Given the description of an element on the screen output the (x, y) to click on. 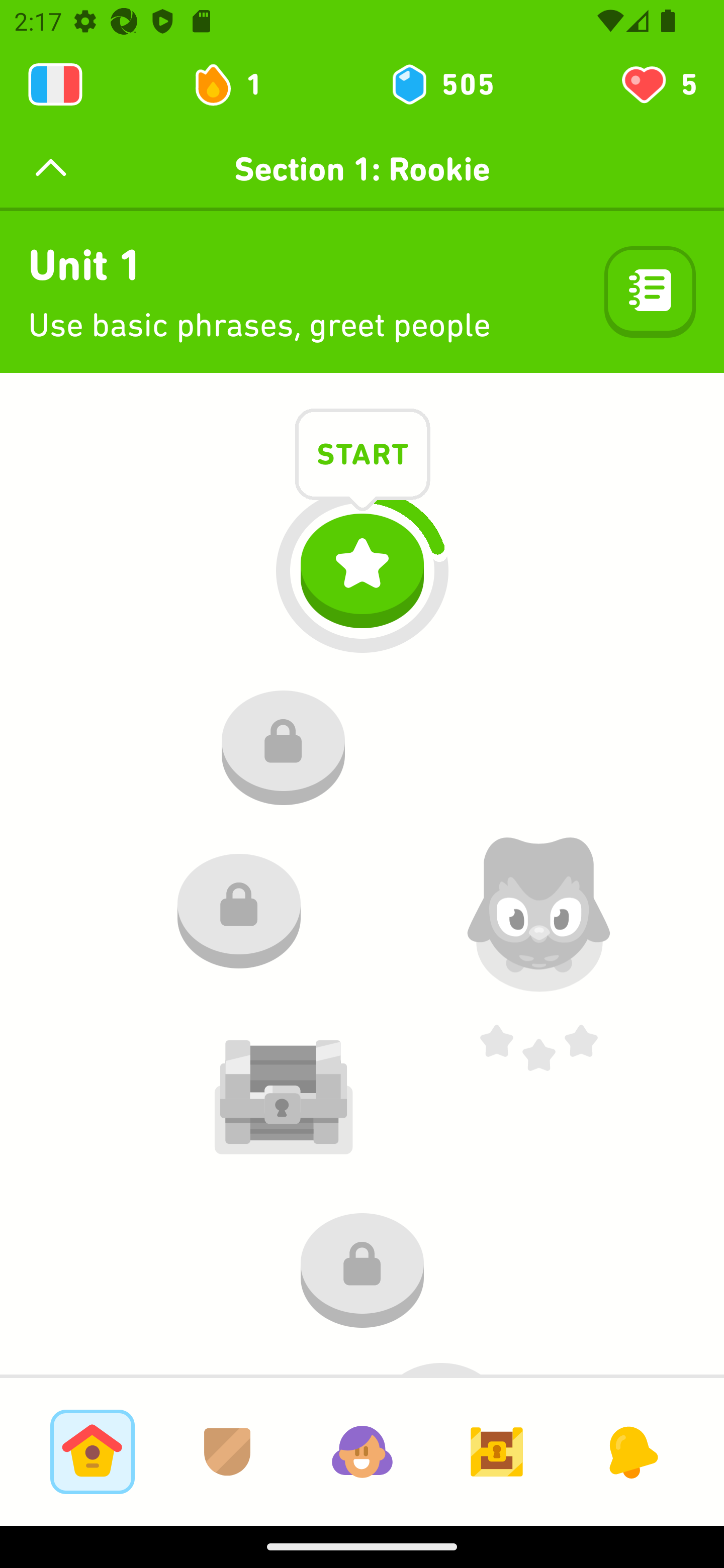
Learning 2131888976 (55, 84)
1 day streak 1 (236, 84)
505 (441, 84)
You have 5 hearts left 5 (657, 84)
Section 1: Rookie (362, 169)
START (362, 457)
Learn Tab (91, 1451)
Leagues Tab (227, 1451)
Profile Tab (361, 1451)
Goals Tab (496, 1451)
News Tab (631, 1451)
